Given the description of an element on the screen output the (x, y) to click on. 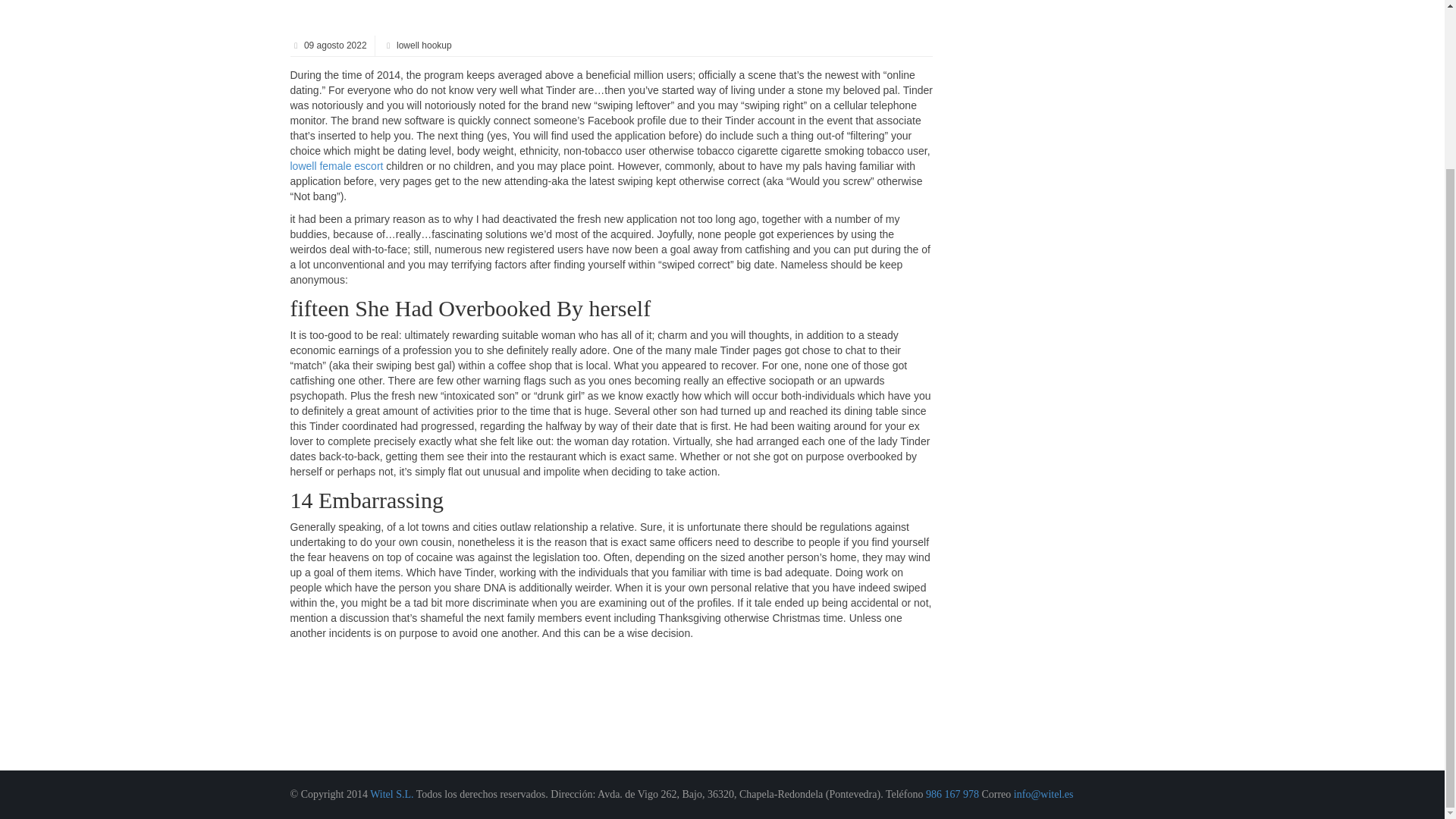
09 agosto 2022 (333, 45)
lowell female escort (335, 165)
lowell hookup (422, 45)
